Given the description of an element on the screen output the (x, y) to click on. 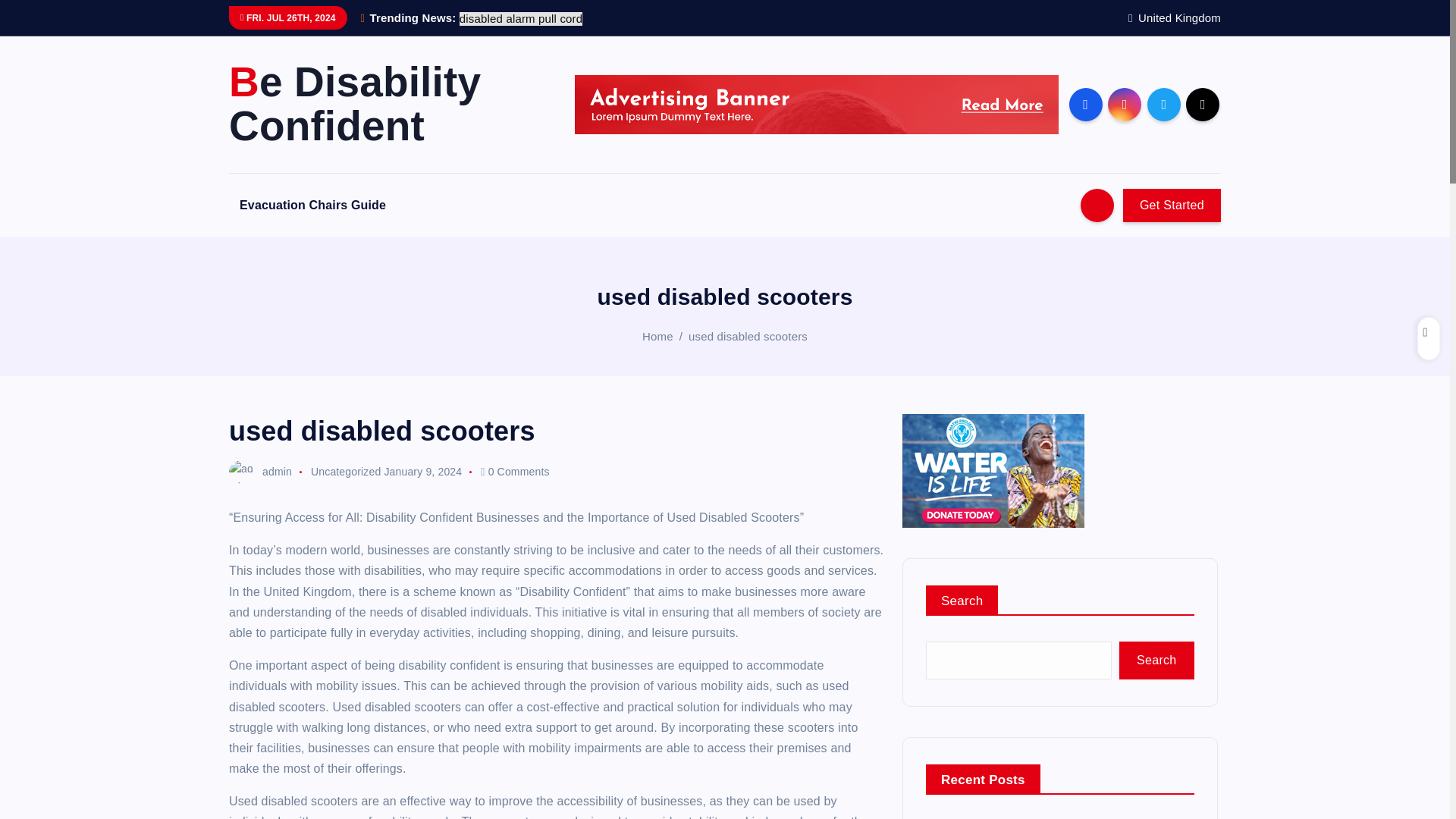
Be Disability Confident (387, 104)
Evacuation Chairs Guide (312, 205)
admin (260, 471)
Evacuation Chairs Guide (312, 205)
used disabled scooters (748, 335)
Home (657, 335)
Search (1156, 660)
Uncategorized (345, 471)
Get Started (1171, 204)
